Given the description of an element on the screen output the (x, y) to click on. 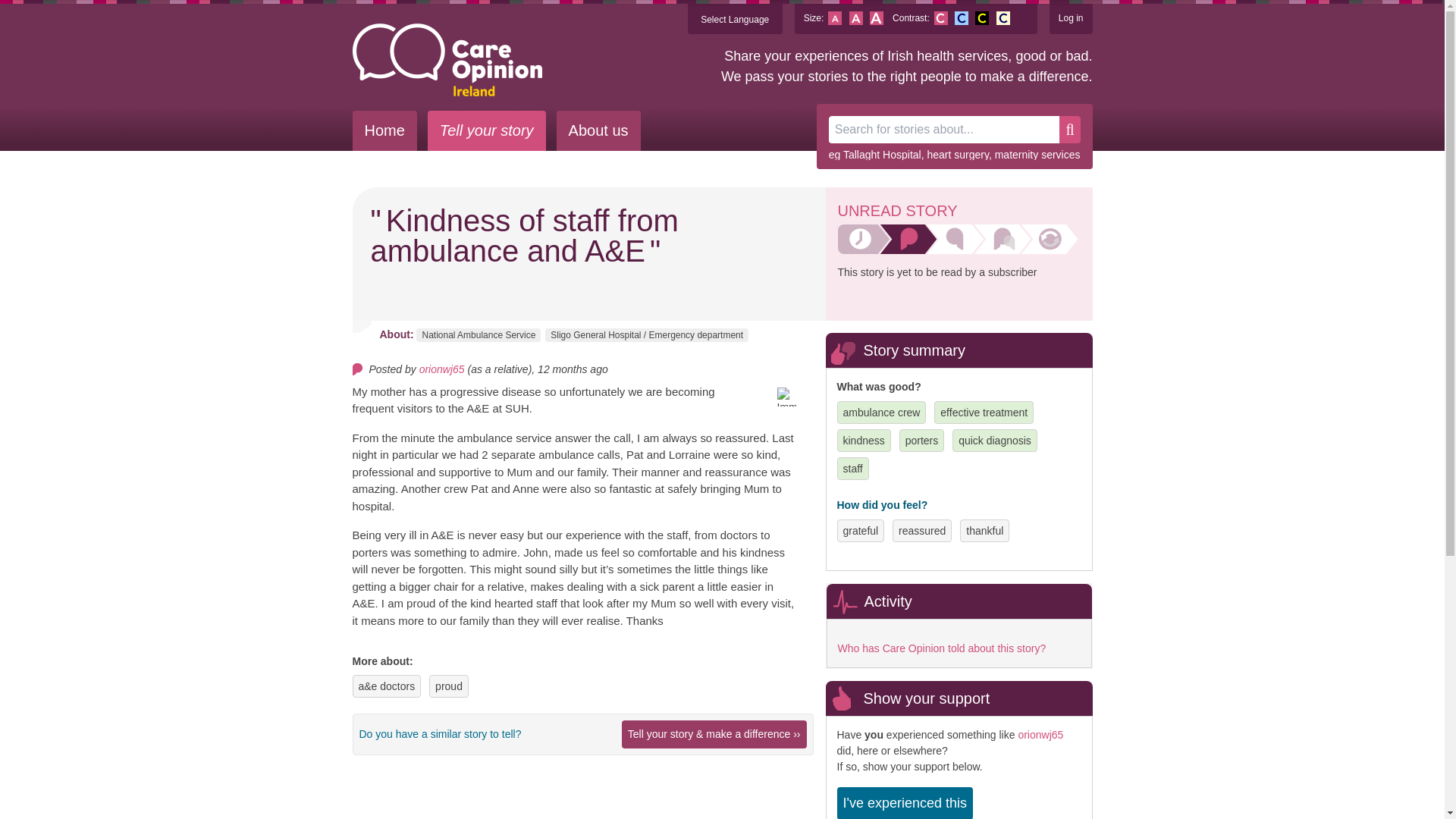
reassured (921, 530)
Tell your story (487, 130)
Reset (855, 18)
grateful (861, 530)
staff (853, 468)
About us (598, 130)
Smaller (834, 18)
Search for stories about... (943, 129)
Larger (876, 18)
orionwj65 (441, 369)
soft (1002, 18)
Care Opinion home page (446, 59)
proud (449, 686)
Blue (961, 18)
quick diagnosis (994, 439)
